Given the description of an element on the screen output the (x, y) to click on. 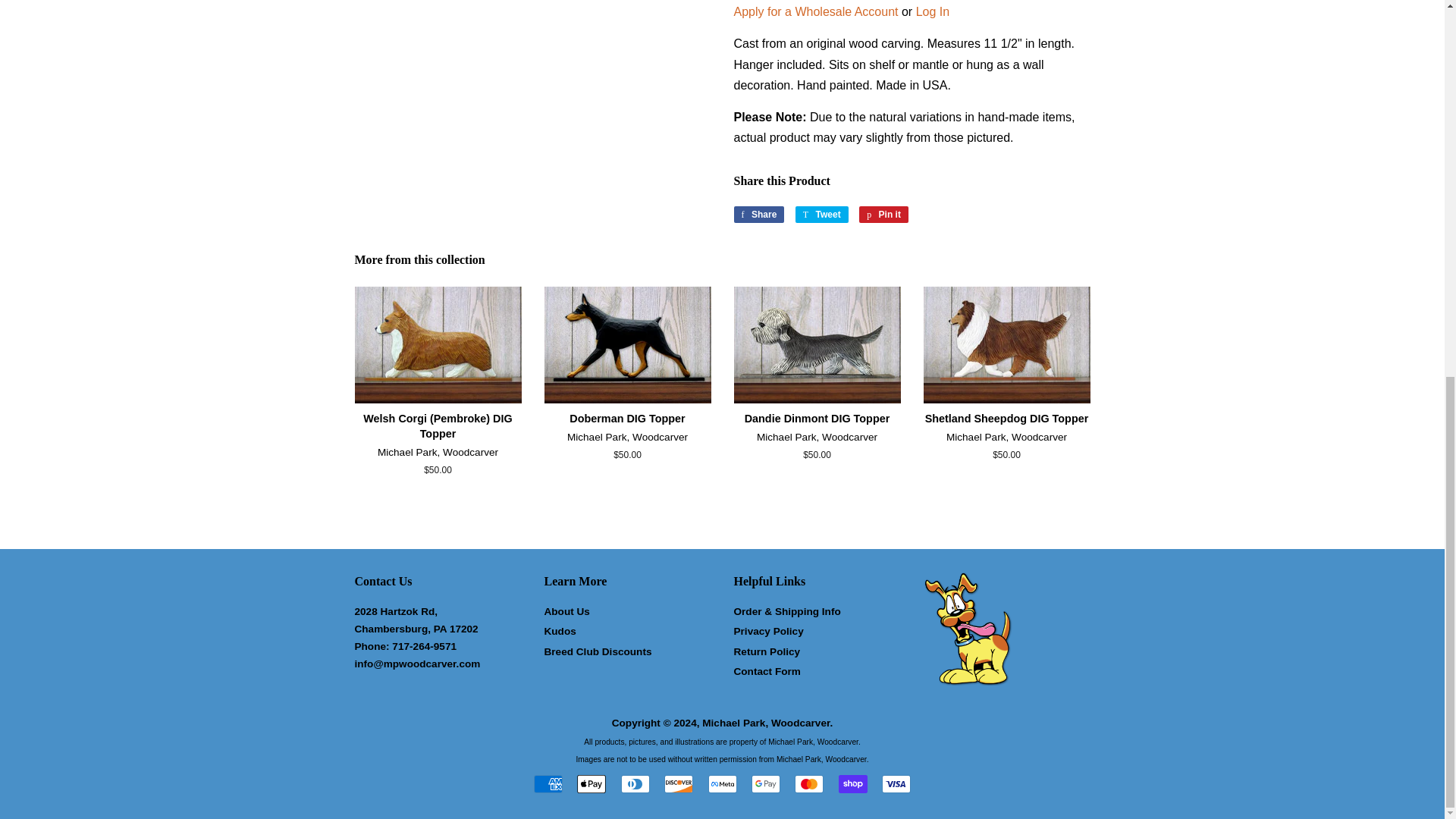
Google Pay (765, 783)
Diners Club (635, 783)
American Express (548, 783)
Meta Pay (721, 783)
Mastercard (809, 783)
Pin on Pinterest (883, 214)
Share on Facebook (758, 214)
Apple Pay (590, 783)
Tweet on Twitter (821, 214)
Shop Pay (852, 783)
Visa (896, 783)
Discover (678, 783)
